Given the description of an element on the screen output the (x, y) to click on. 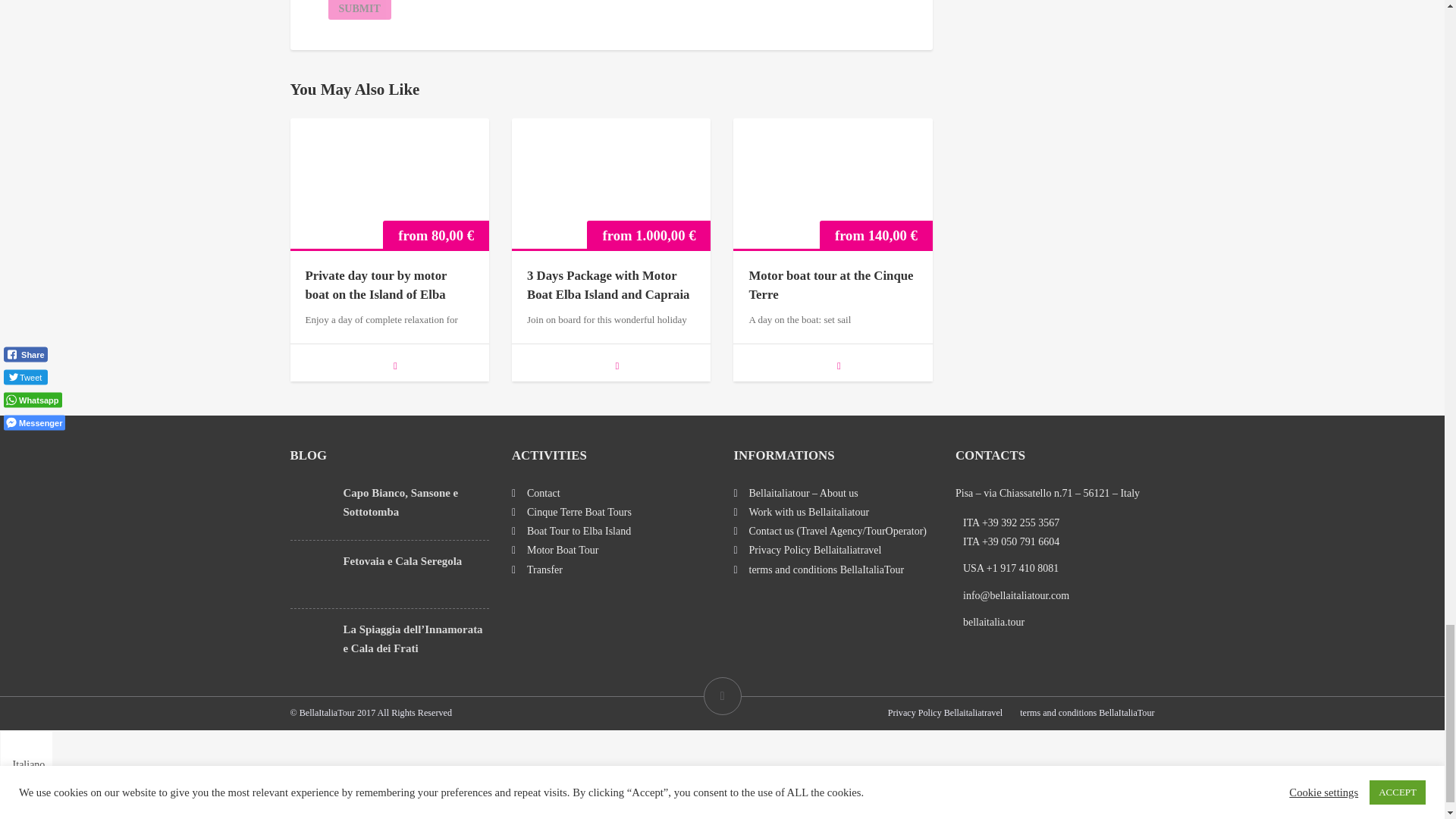
Submit (358, 9)
